Given the description of an element on the screen output the (x, y) to click on. 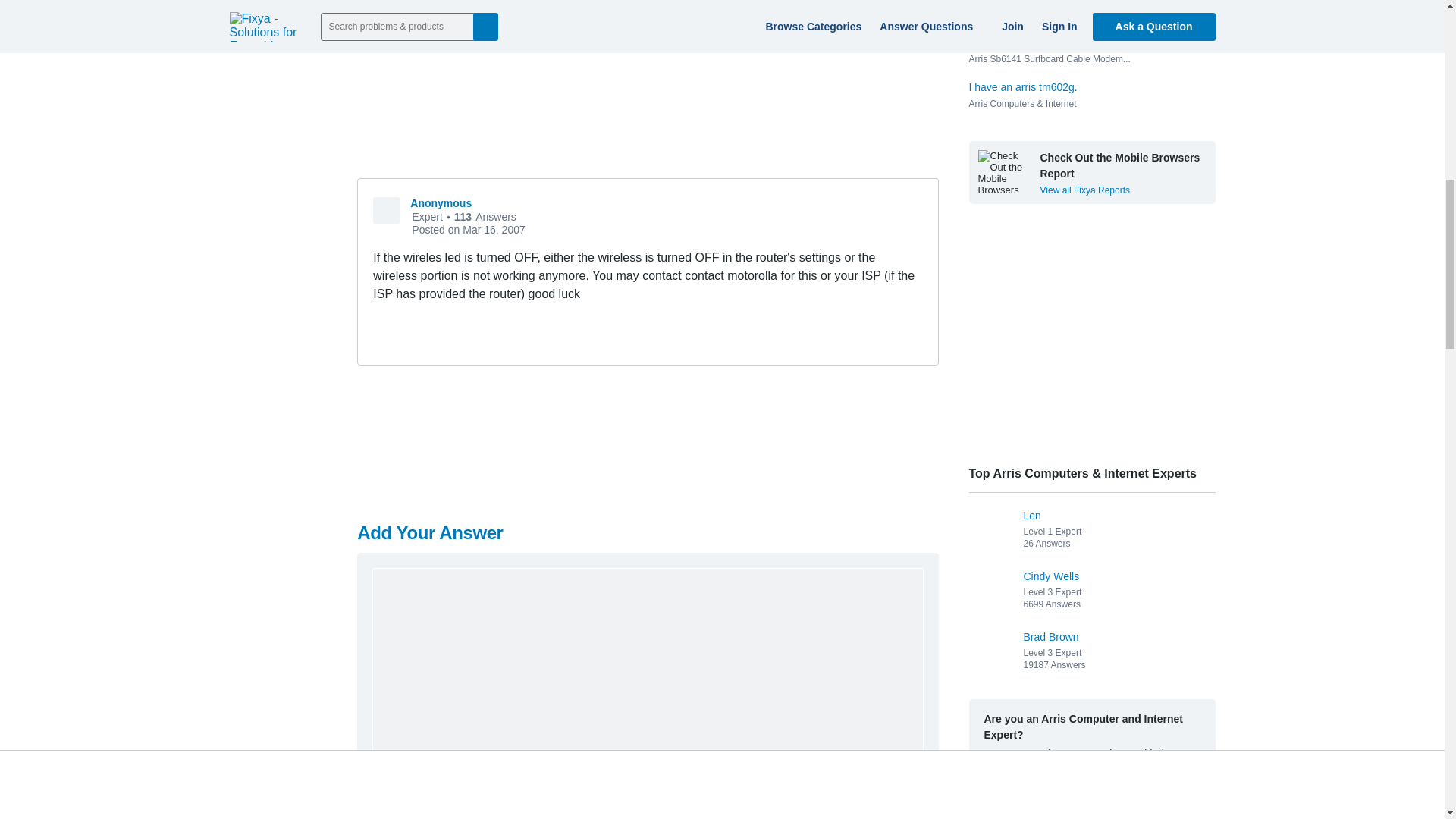
Add Answer (872, 784)
